Given the description of an element on the screen output the (x, y) to click on. 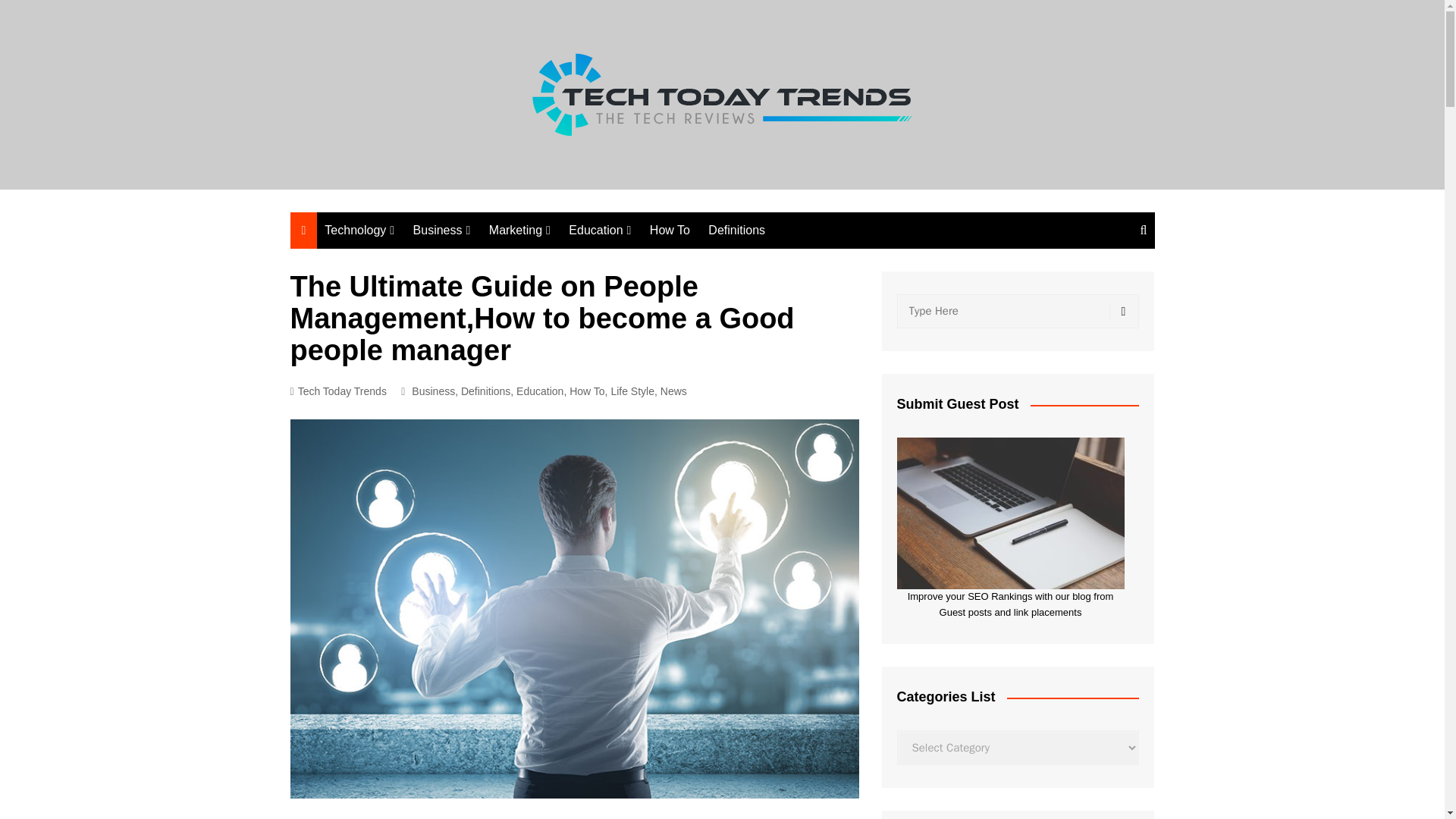
Games (564, 335)
Business (442, 230)
News (644, 260)
Entertainment (564, 285)
Health (489, 285)
Mobile (400, 386)
Tech Today Trends (337, 391)
Business (433, 391)
Crypto (564, 310)
Network (400, 260)
Android (566, 385)
Apps (400, 310)
Technology (359, 230)
IOS (566, 411)
Education (539, 391)
